Given the description of an element on the screen output the (x, y) to click on. 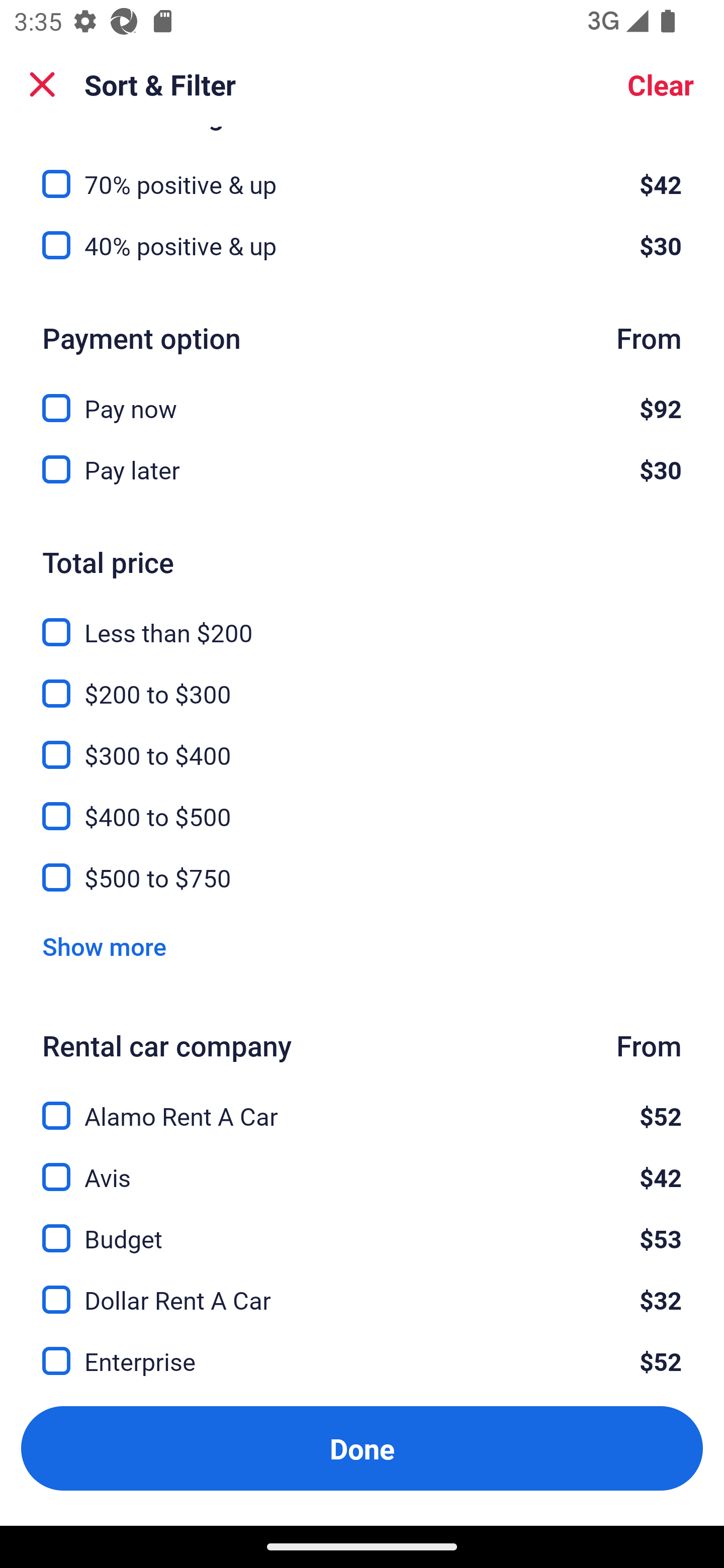
Close Sort and Filter (42, 84)
Clear (660, 84)
70% positive & up, $42 70% positive & up $42 (361, 172)
40% positive & up, $30 40% positive & up $30 (361, 245)
Pay now, $92 Pay now $92 (361, 397)
Pay later, $30 Pay later $30 (361, 470)
Less than $200, Less than $200 (361, 621)
$200 to $300, $200 to $300 (361, 682)
$300 to $400, $300 to $400 (361, 743)
$400 to $500, $400 to $500 (361, 804)
$500 to $750, $500 to $750 (361, 877)
Show more Show more Link (103, 945)
Alamo Rent A Car, $52 Alamo Rent A Car $52 (361, 1104)
Avis, $42 Avis $42 (361, 1165)
Budget, $53 Budget $53 (361, 1226)
Dollar Rent A Car, $32 Dollar Rent A Car $32 (361, 1287)
Enterprise, $52 Enterprise $52 (361, 1360)
Apply and close Sort and Filter Done (361, 1448)
